Given the description of an element on the screen output the (x, y) to click on. 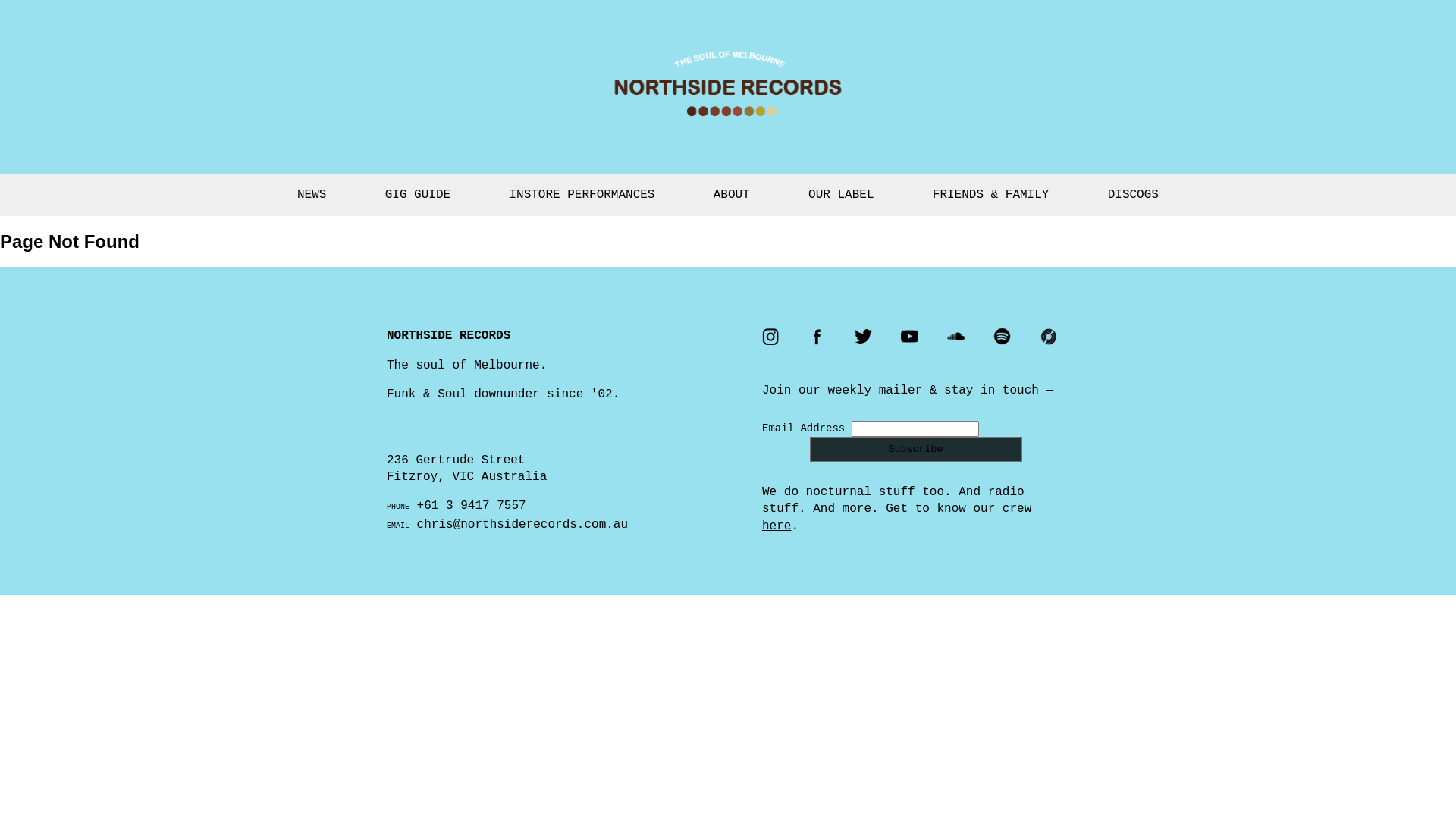
OUR LABEL Element type: text (840, 194)
FRIENDS & FAMILY Element type: text (990, 194)
NEWS Element type: text (311, 194)
Subscribe Element type: text (915, 448)
GIG GUIDE Element type: text (417, 194)
INSTORE PERFORMANCES Element type: text (581, 194)
DISCOGS Element type: text (1133, 194)
ABOUT Element type: text (731, 194)
here Element type: text (776, 526)
